Given the description of an element on the screen output the (x, y) to click on. 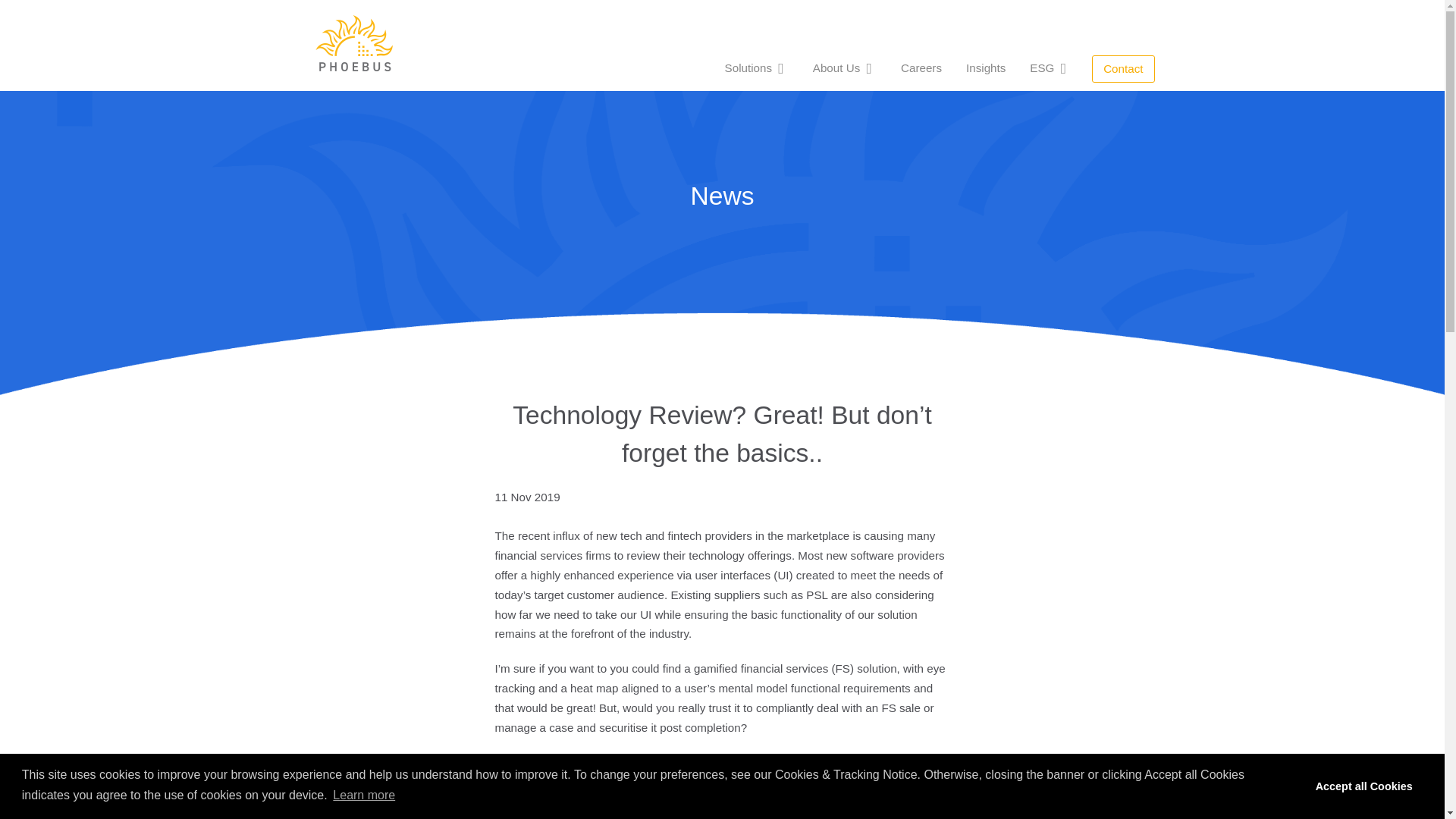
Insights (985, 67)
Return to Phoebus Software homepage (354, 43)
Contact (1123, 68)
Learn more (363, 794)
Careers (921, 67)
Accept all Cookies (1363, 786)
